Given the description of an element on the screen output the (x, y) to click on. 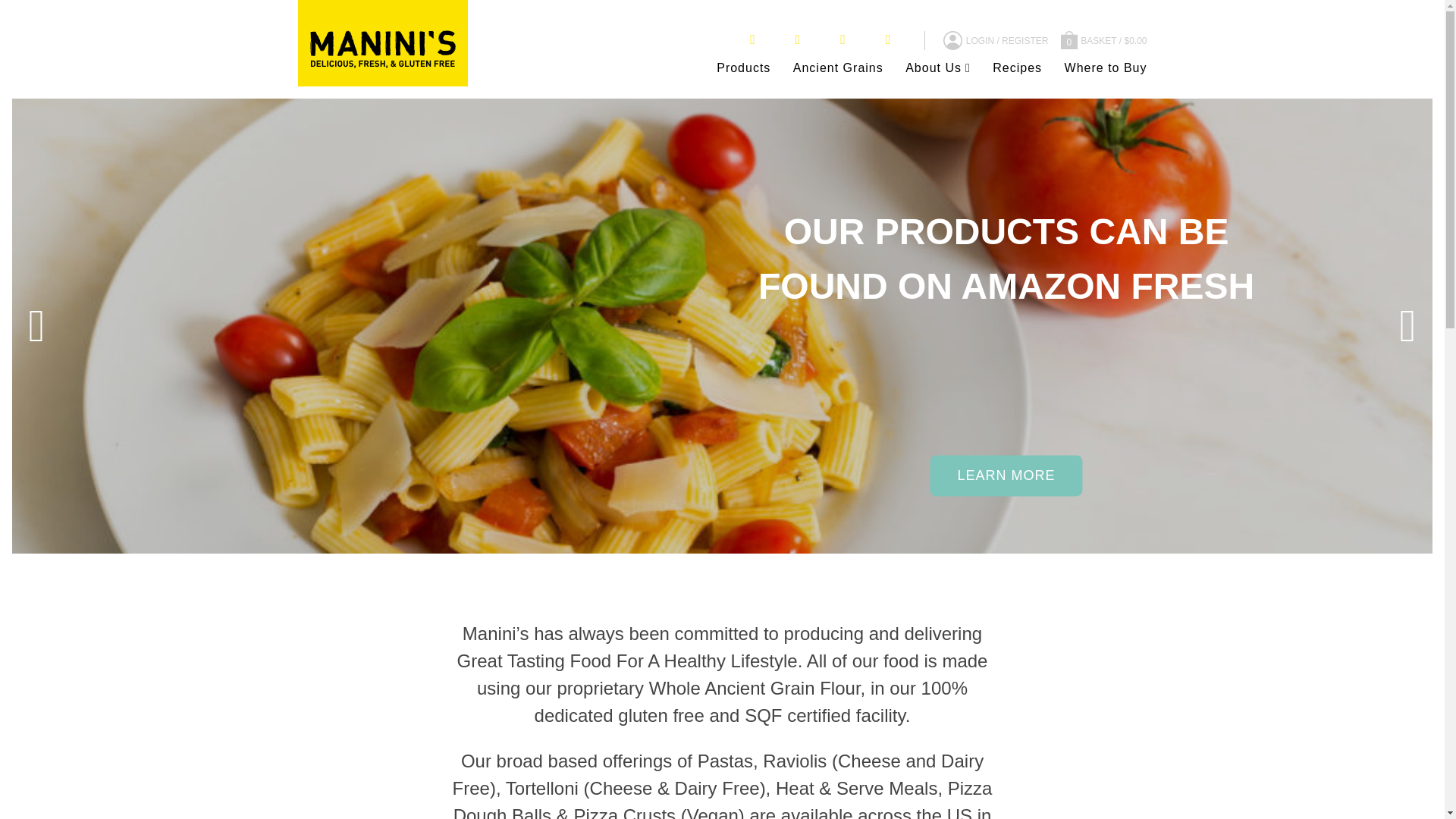
Ancient Grains (838, 67)
Products (743, 67)
About Us (938, 67)
Manini's, LLC (381, 56)
Recipes (1017, 67)
LEARN MORE (1006, 475)
View your shopping cart (1099, 39)
Where to Buy (1105, 67)
